Given the description of an element on the screen output the (x, y) to click on. 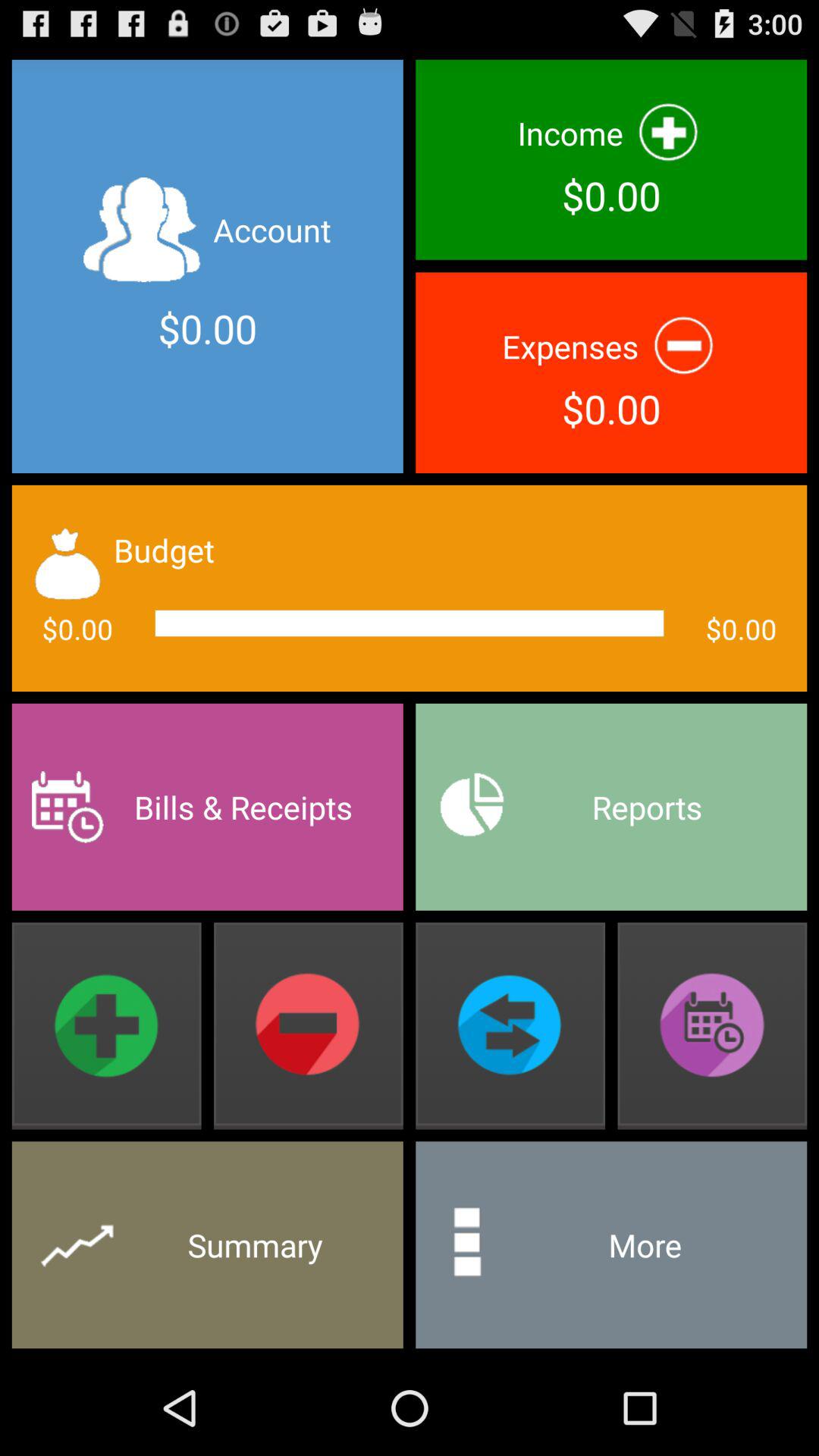
press the reports app (611, 806)
